Given the description of an element on the screen output the (x, y) to click on. 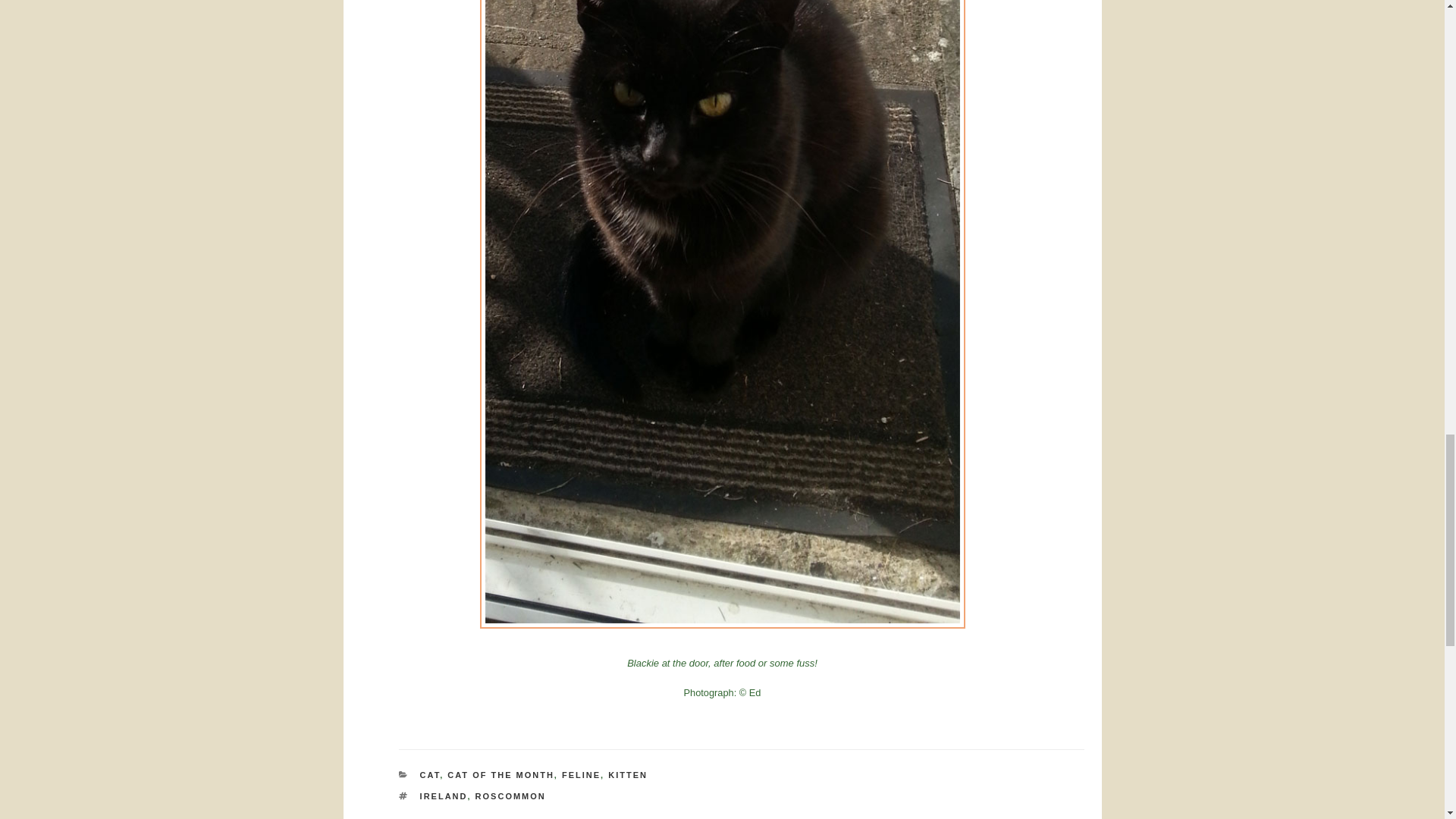
IRELAND (443, 795)
FELINE (580, 774)
CAT OF THE MONTH (500, 774)
ROSCOMMON (511, 795)
CAT (430, 774)
KITTEN (627, 774)
